Given the description of an element on the screen output the (x, y) to click on. 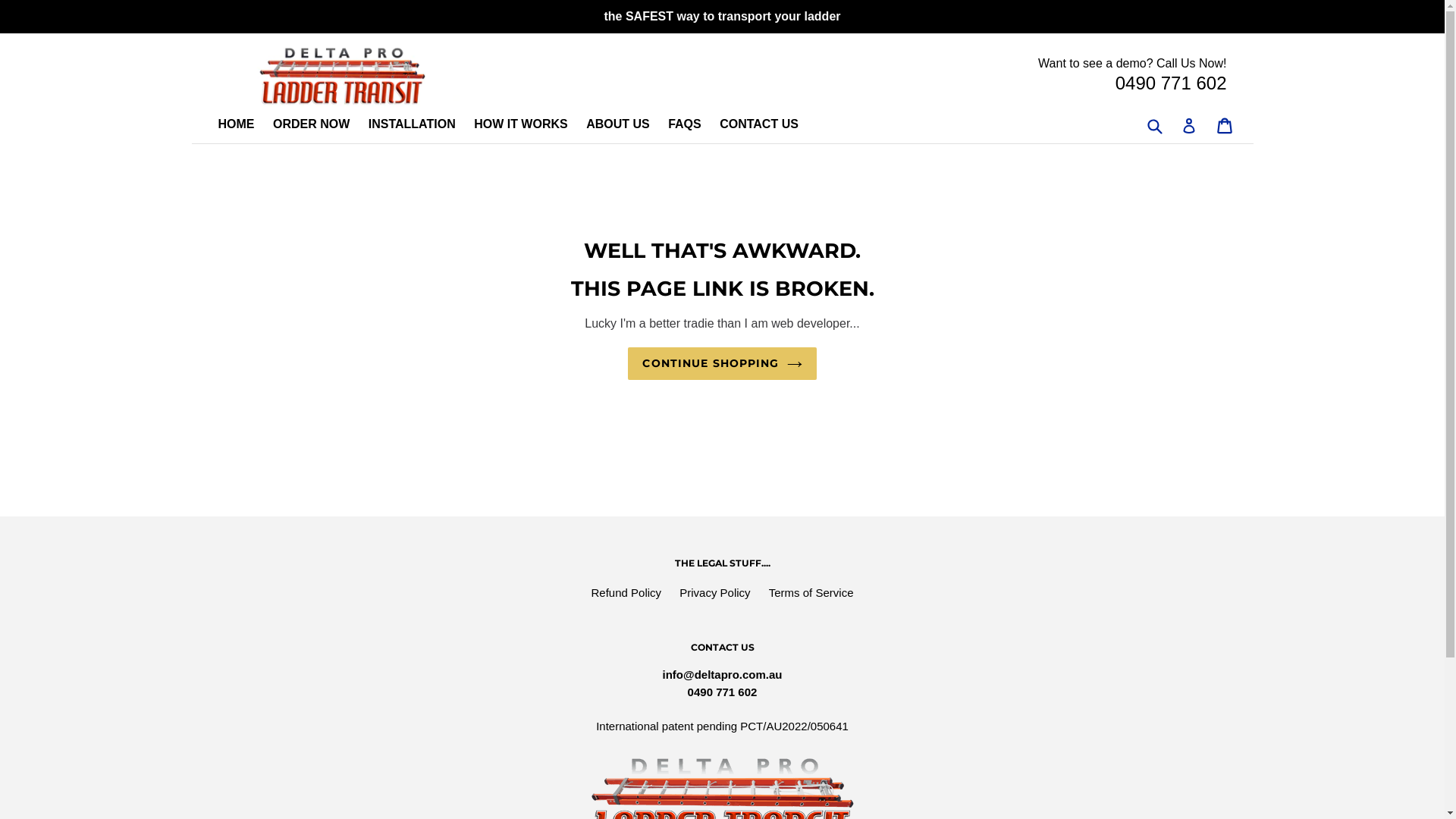
Submit Element type: text (1153, 125)
INSTALLATION Element type: text (419, 125)
Refund Policy Element type: text (626, 592)
Terms of Service Element type: text (810, 592)
ABOUT US Element type: text (625, 125)
ORDER NOW Element type: text (318, 125)
CONTINUE SHOPPING Element type: text (721, 363)
HOW IT WORKS Element type: text (528, 125)
FAQS Element type: text (692, 125)
Cart
Cart Element type: text (1224, 125)
CONTACT US Element type: text (766, 125)
HOME Element type: text (243, 125)
Privacy Policy Element type: text (714, 592)
Log in Element type: text (1188, 125)
